Given the description of an element on the screen output the (x, y) to click on. 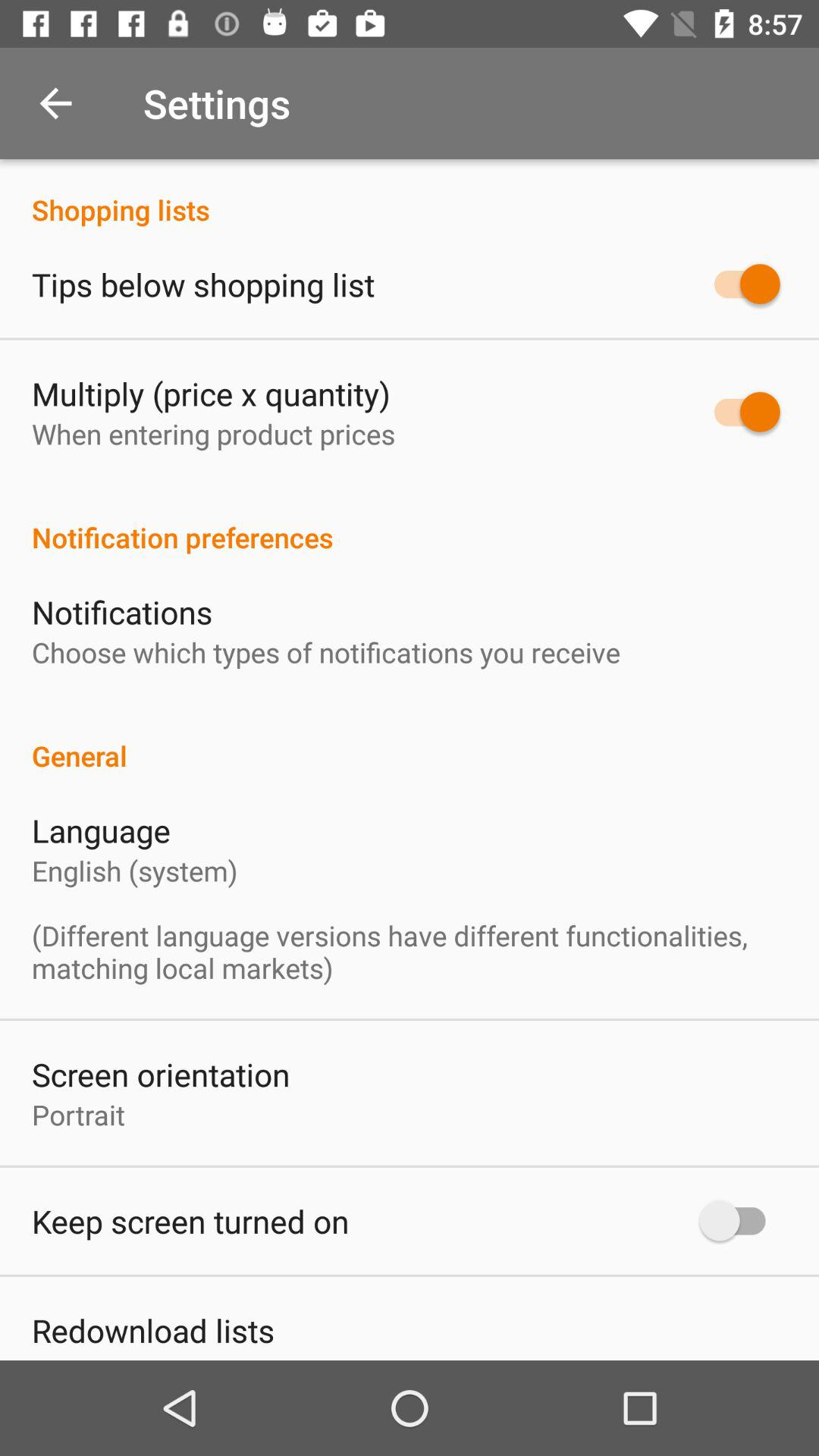
open redownload lists item (152, 1329)
